Given the description of an element on the screen output the (x, y) to click on. 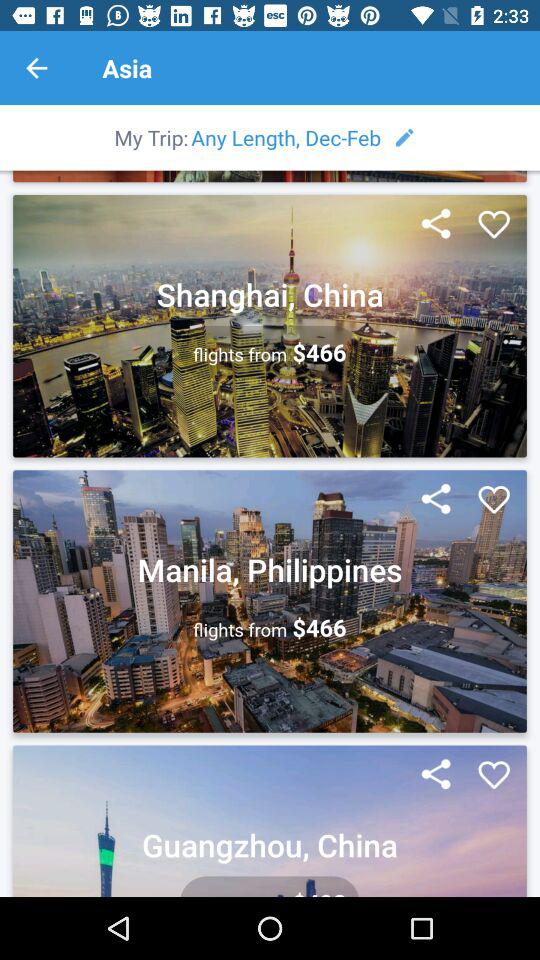
share flights info (435, 225)
